Given the description of an element on the screen output the (x, y) to click on. 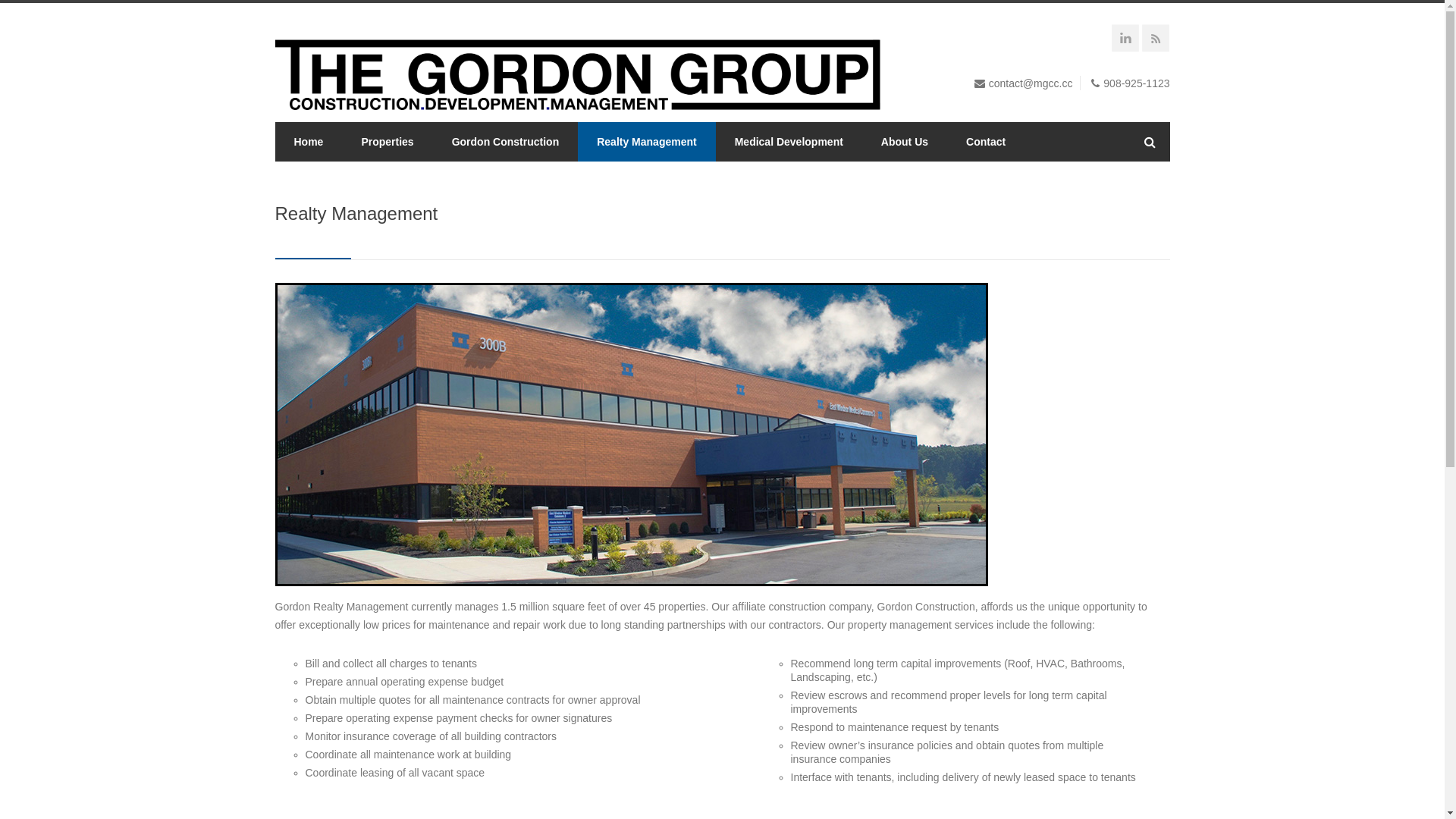
Properties Element type: text (387, 141)
Gordon Construction Element type: text (505, 141)
LinkedIN Element type: hover (1127, 40)
Home Element type: text (308, 141)
contact@mgcc.cc Element type: text (1030, 83)
About Us Element type: text (904, 141)
Medical Development Element type: text (788, 141)
Realty Management Element type: text (646, 141)
Contact Element type: text (985, 141)
